Given the description of an element on the screen output the (x, y) to click on. 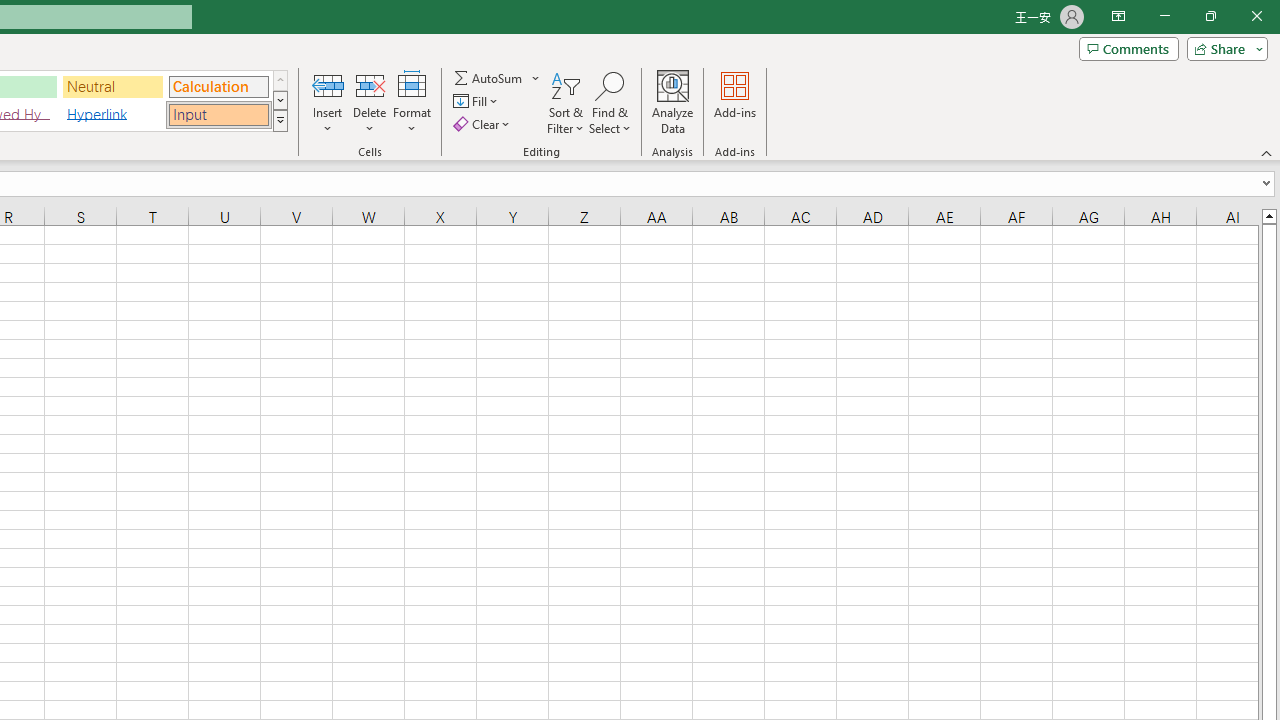
Calculation (218, 86)
Find & Select (610, 102)
Insert Cells (328, 84)
Sort & Filter (566, 102)
Input (218, 114)
Delete Cells... (369, 84)
Format (411, 102)
